Given the description of an element on the screen output the (x, y) to click on. 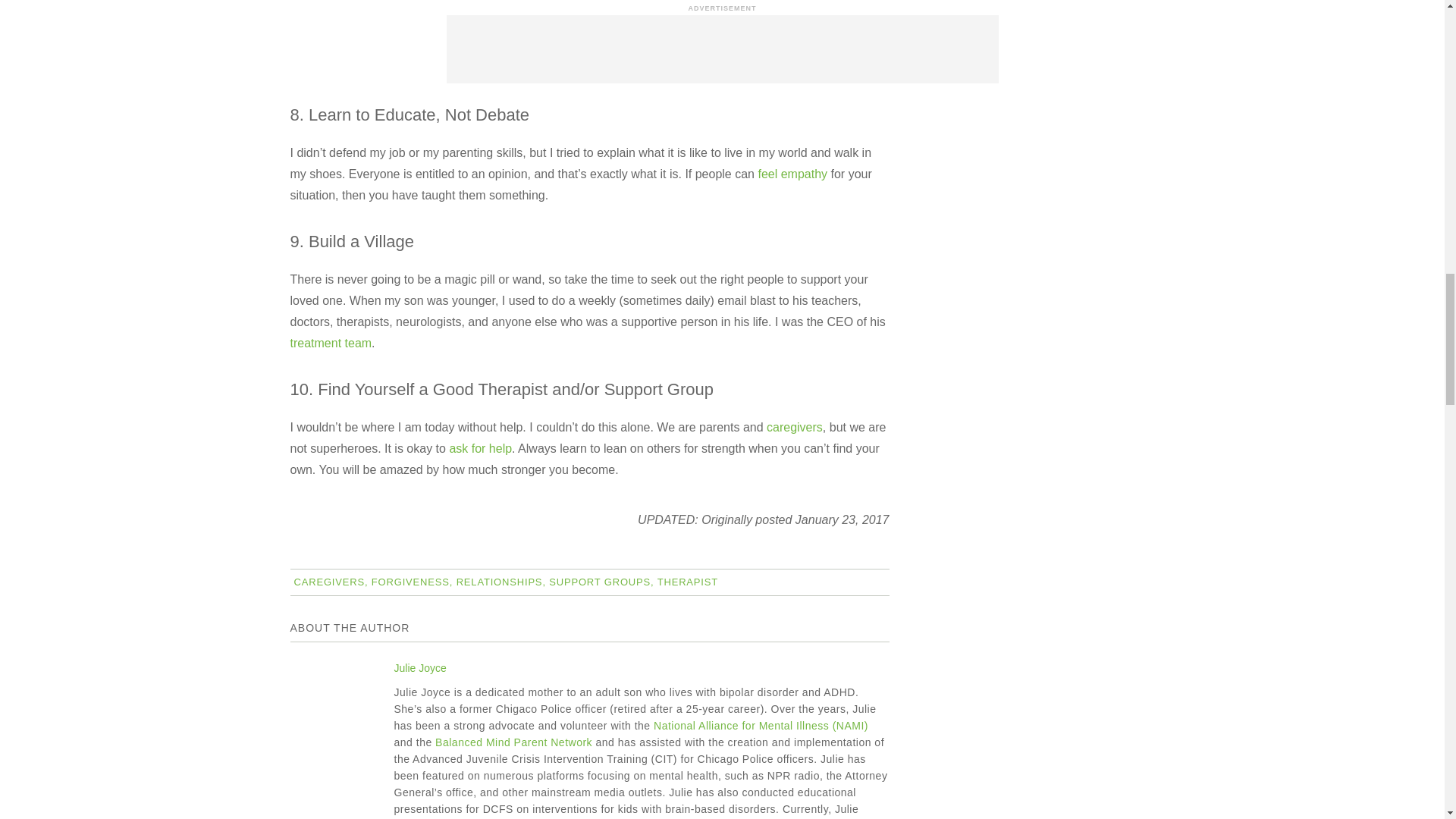
More (312, 683)
Facebook (312, 562)
Twitter (312, 592)
Pinterest (312, 622)
Email (312, 653)
